Given the description of an element on the screen output the (x, y) to click on. 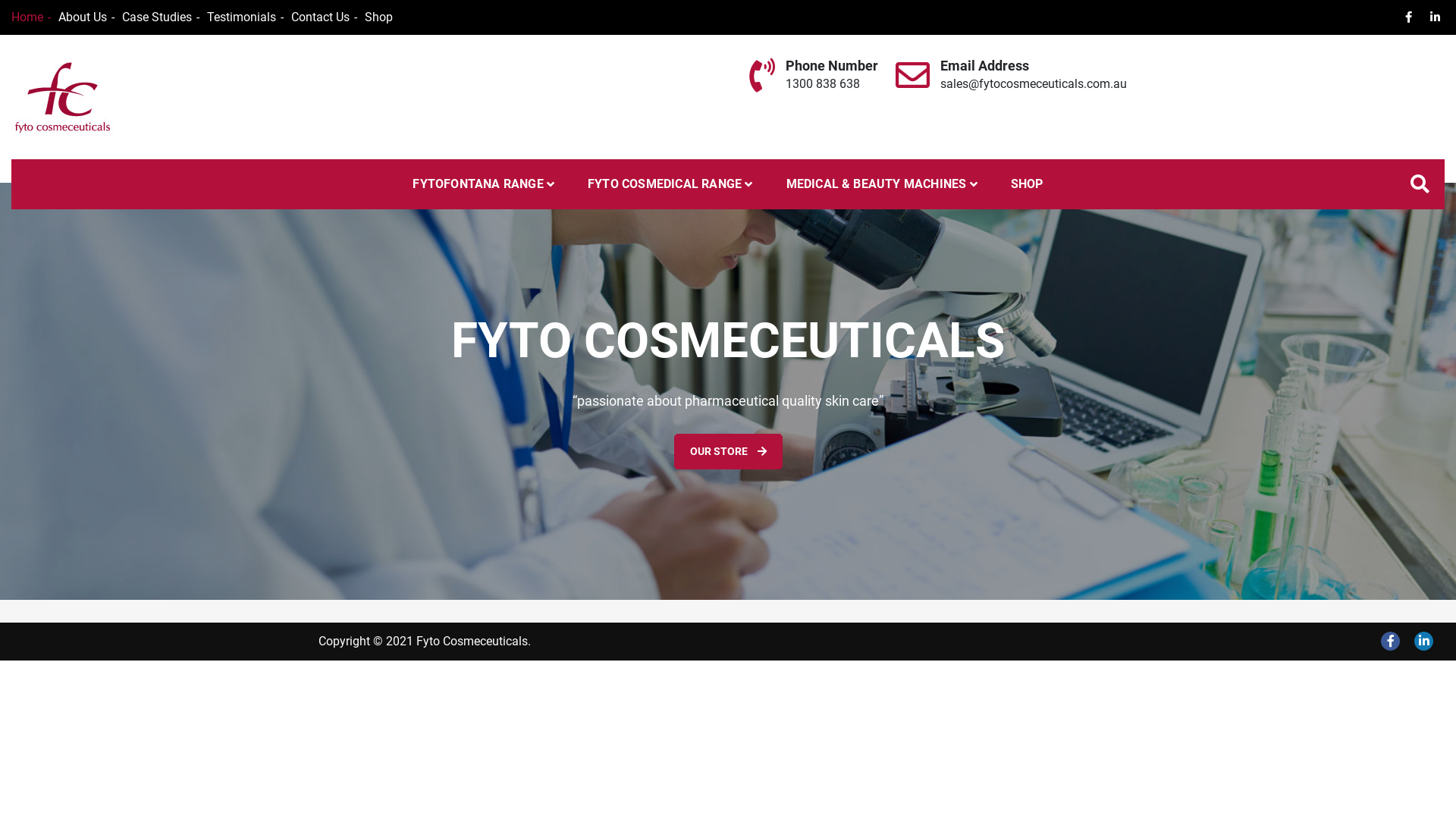
Home Element type: text (30, 16)
Case Studies Element type: text (160, 16)
Search Element type: text (885, 380)
MEDICAL & BEAUTY MACHINES Element type: text (880, 183)
FYTOFONTANA RANGE Element type: text (483, 183)
Shop Element type: text (378, 16)
Testimonials Element type: text (245, 16)
1300 838 638 Element type: text (822, 83)
FYTO COSMEDICAL RANGE Element type: text (669, 183)
Fyto Cosmeceuticals Element type: text (139, 152)
SHOP Element type: text (1026, 183)
About Us Element type: text (86, 16)
sales@fytocosmeceuticals.com.au Element type: text (1033, 83)
OUR STORE Element type: text (727, 451)
Contact Us Element type: text (324, 16)
